Given the description of an element on the screen output the (x, y) to click on. 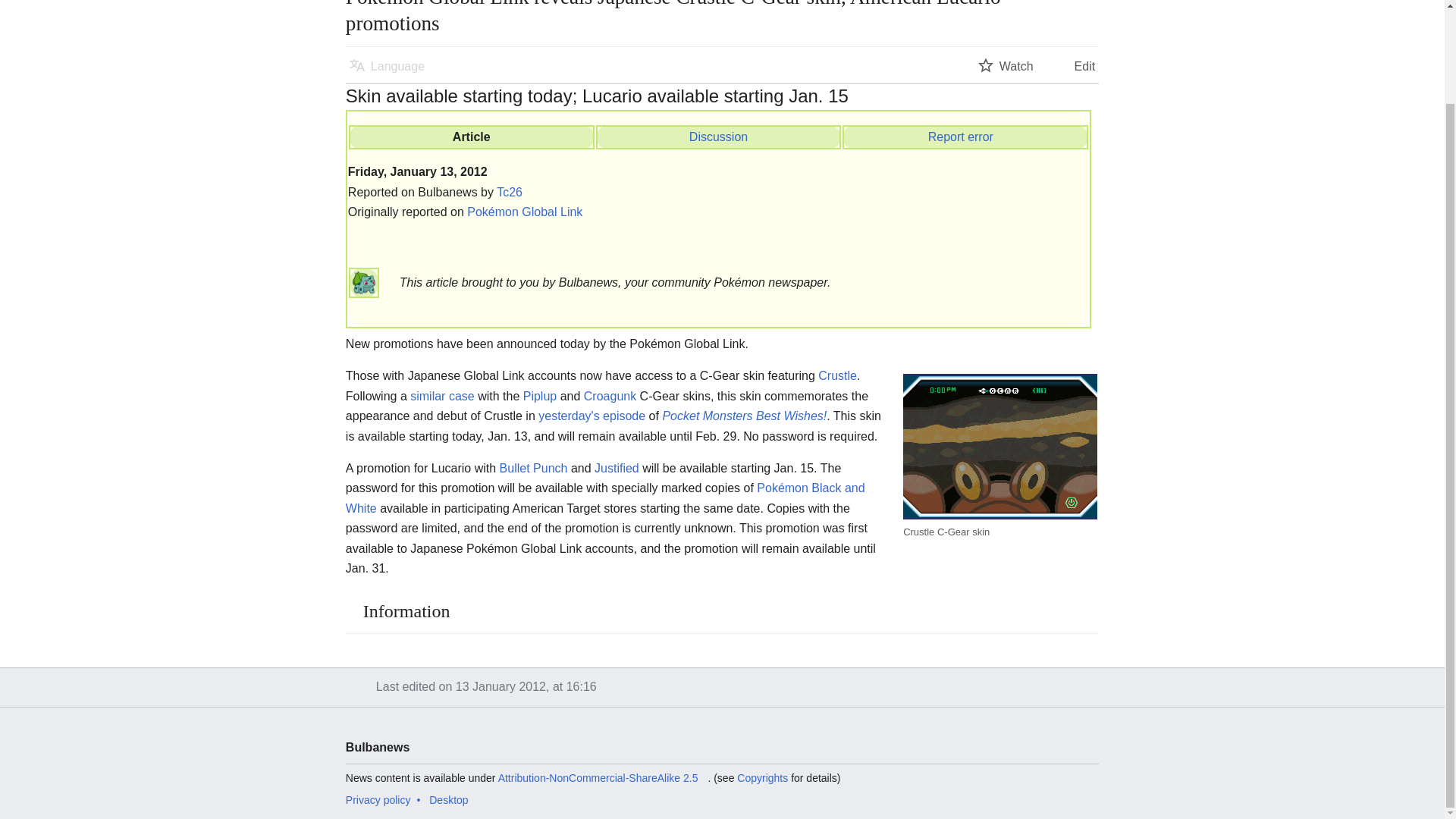
Watch (1005, 64)
bp:SS025 (461, 395)
Privacy policy (378, 799)
Justified (616, 468)
Attribution-NonCommercial-ShareAlike 2.5 (602, 777)
Language (386, 64)
yesterday's episode (591, 415)
Language (386, 64)
Piplup (539, 395)
case (461, 395)
Copyrights (761, 777)
Croagunk (609, 395)
Pocket Monsters Best Wishes! (744, 415)
Edit (1074, 64)
Discussion (718, 136)
